Given the description of an element on the screen output the (x, y) to click on. 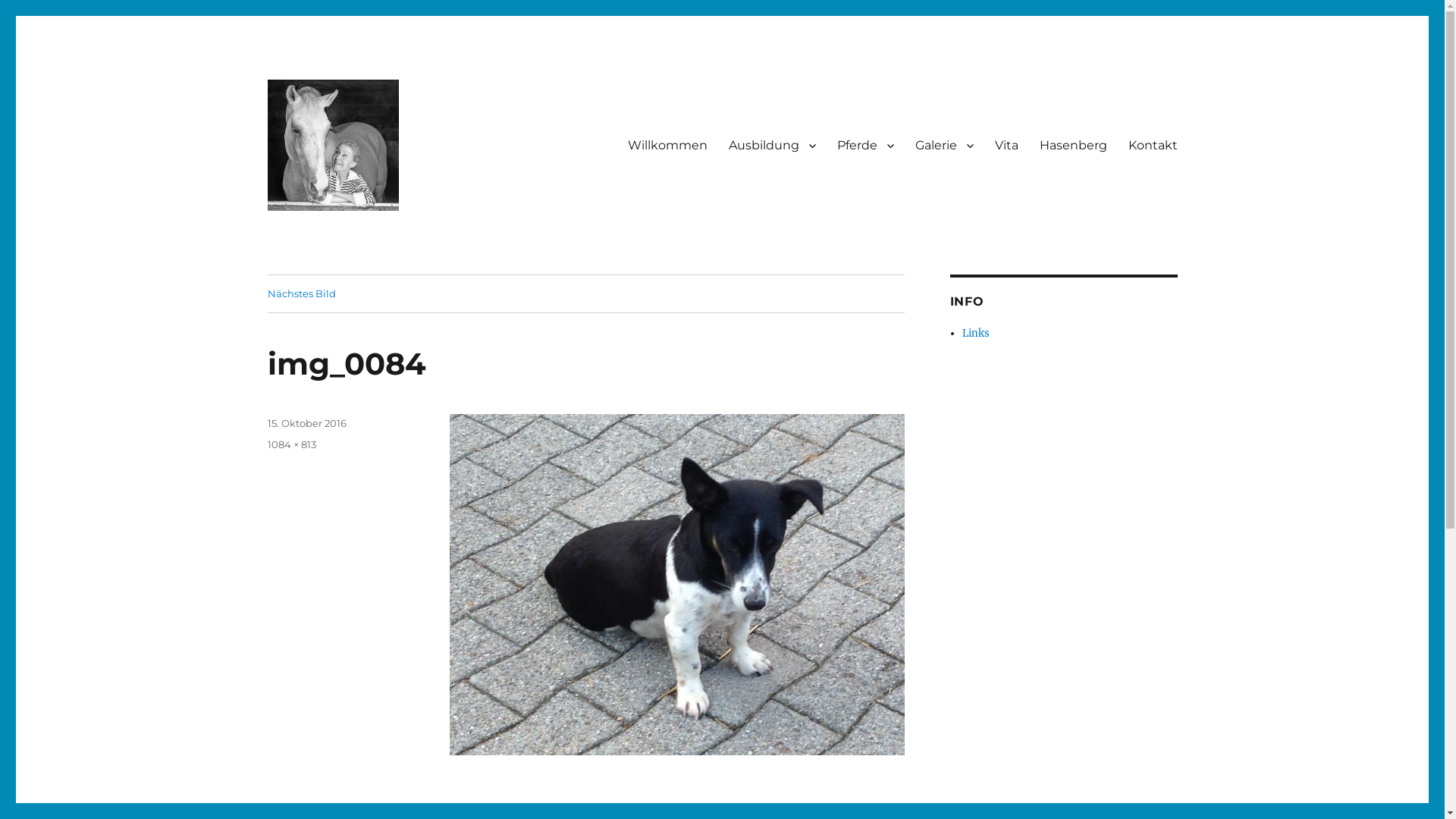
Willkommen Element type: text (667, 144)
Galerie Element type: text (943, 144)
Ausbildung Element type: text (771, 144)
Links Element type: text (975, 332)
Hasenberg Element type: text (327, 234)
15. Oktober 2016 Element type: text (305, 423)
Hasenberg Element type: text (1072, 144)
Kontakt Element type: text (1152, 144)
Vita Element type: text (1006, 144)
Pferde Element type: text (865, 144)
